Given the description of an element on the screen output the (x, y) to click on. 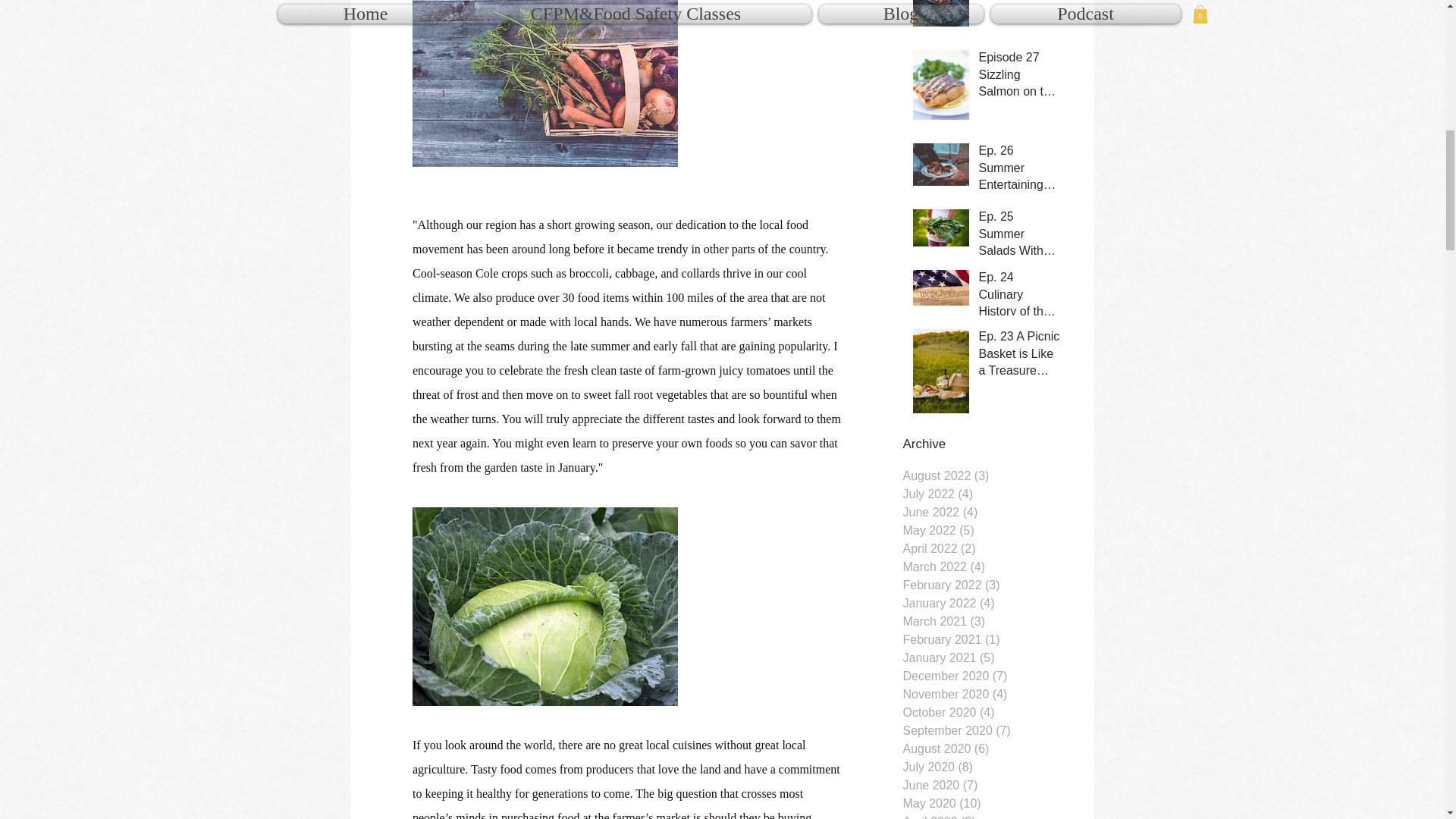
Ep. 24 Culinary History of the 4th of July (1018, 297)
Episode 28 Tuscan Chicken Under A Brick (1018, 3)
Episode 27 Sizzling Salmon on the Grill (1018, 77)
Ep. 23 A Picnic Basket is Like a Treasure Chest (1018, 356)
